Given the description of an element on the screen output the (x, y) to click on. 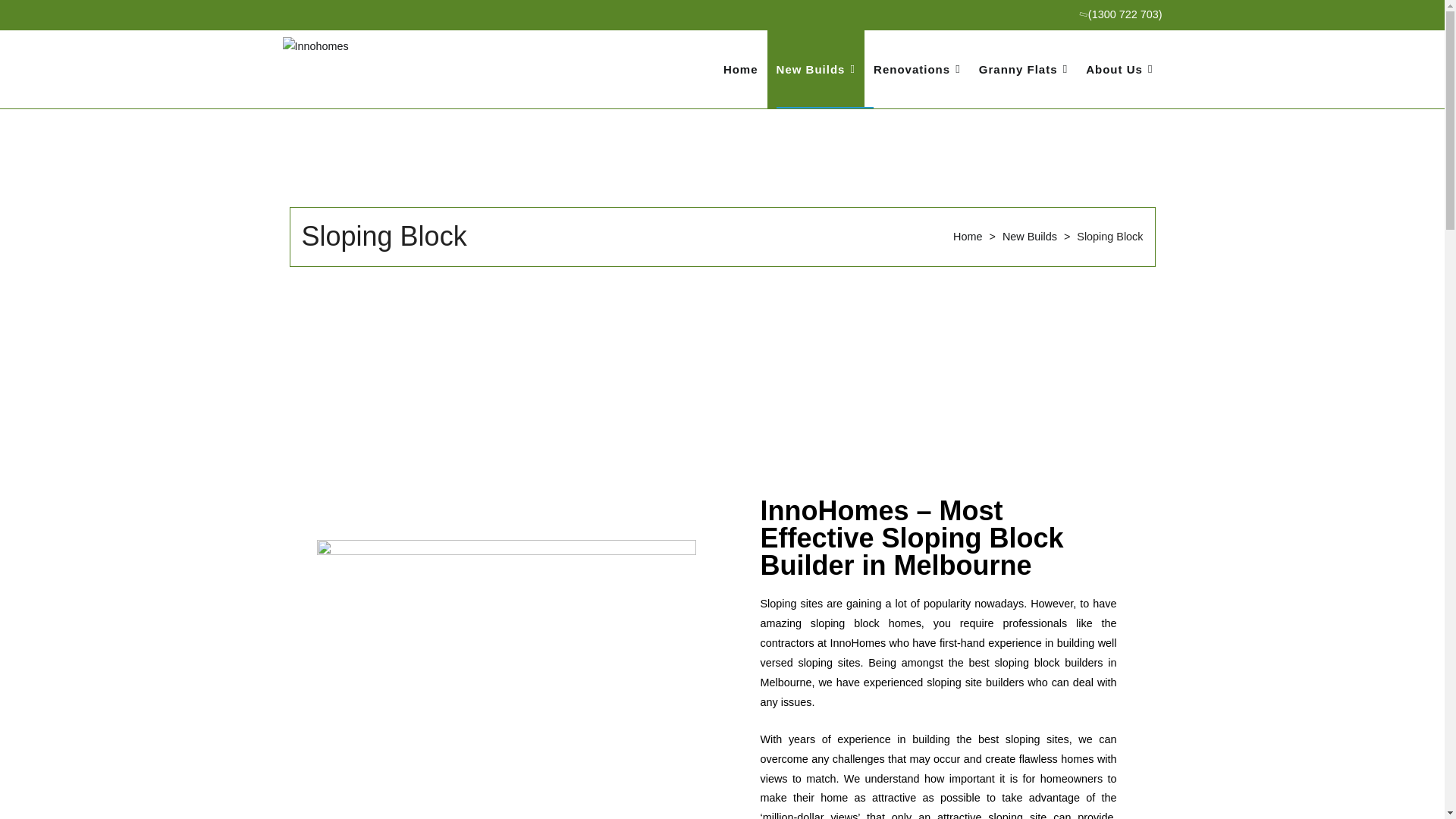
Go to New Builds. (1030, 236)
Granny Flats (1023, 69)
About Us (1119, 69)
Renovations (916, 69)
New Builds (815, 69)
Innohomes (552, 79)
Go to Innohomes. (967, 236)
